Given the description of an element on the screen output the (x, y) to click on. 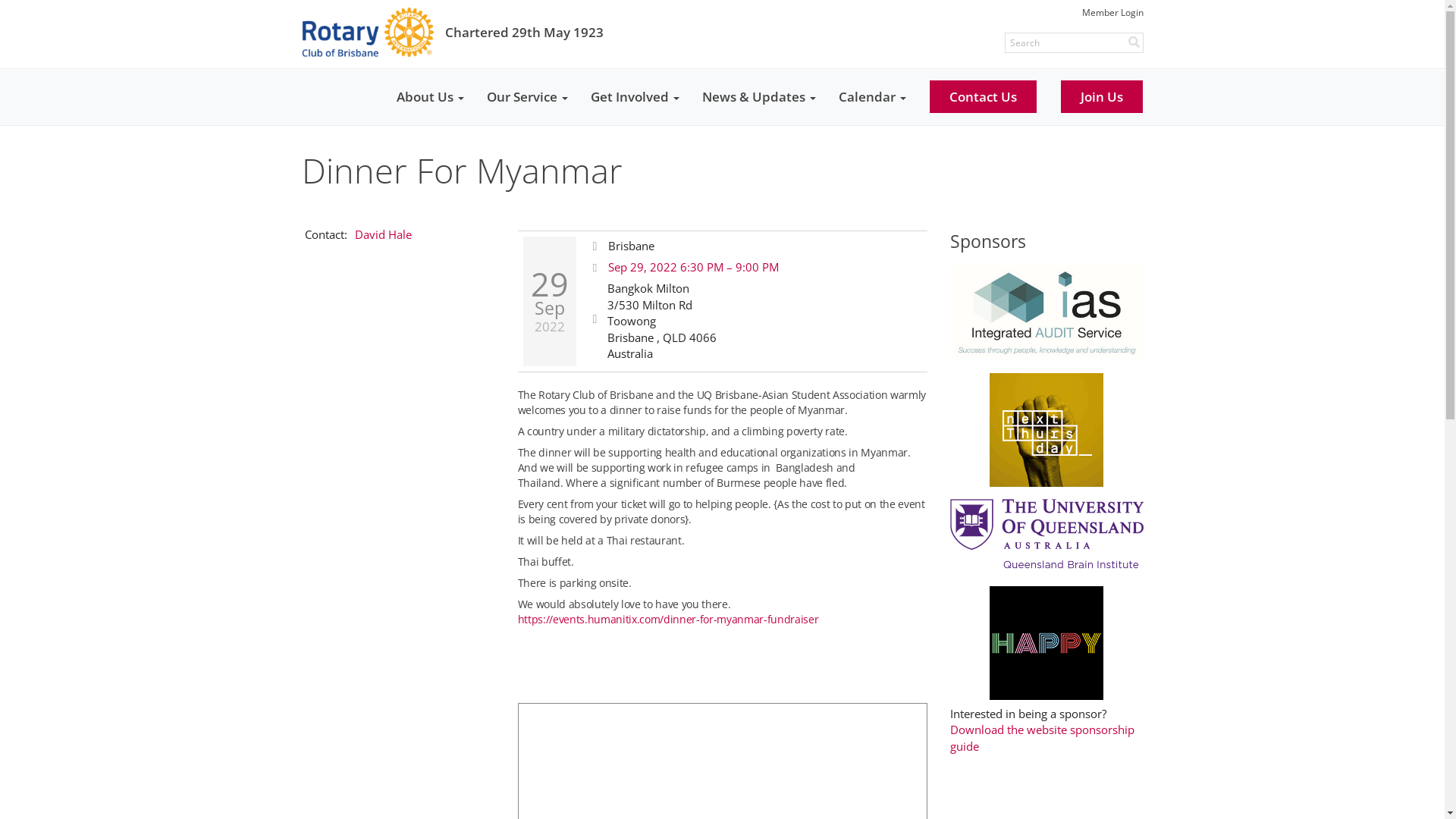
Contact Us Element type: text (982, 96)
Download the website sponsorship guide Element type: text (1041, 737)
About Us Element type: text (430, 96)
News & Updates Element type: text (758, 96)
Join Us Element type: text (1101, 96)
Chartered 29th May 1923 Element type: text (452, 31)
Our Service Element type: text (526, 96)
Get Involved Element type: text (634, 96)
https://events.humanitix.com/dinner-for-myanmar-fundraiser Element type: text (667, 618)
David Hale Element type: text (382, 233)
Calendar Element type: text (871, 96)
Member Login Element type: text (1111, 12)
